Given the description of an element on the screen output the (x, y) to click on. 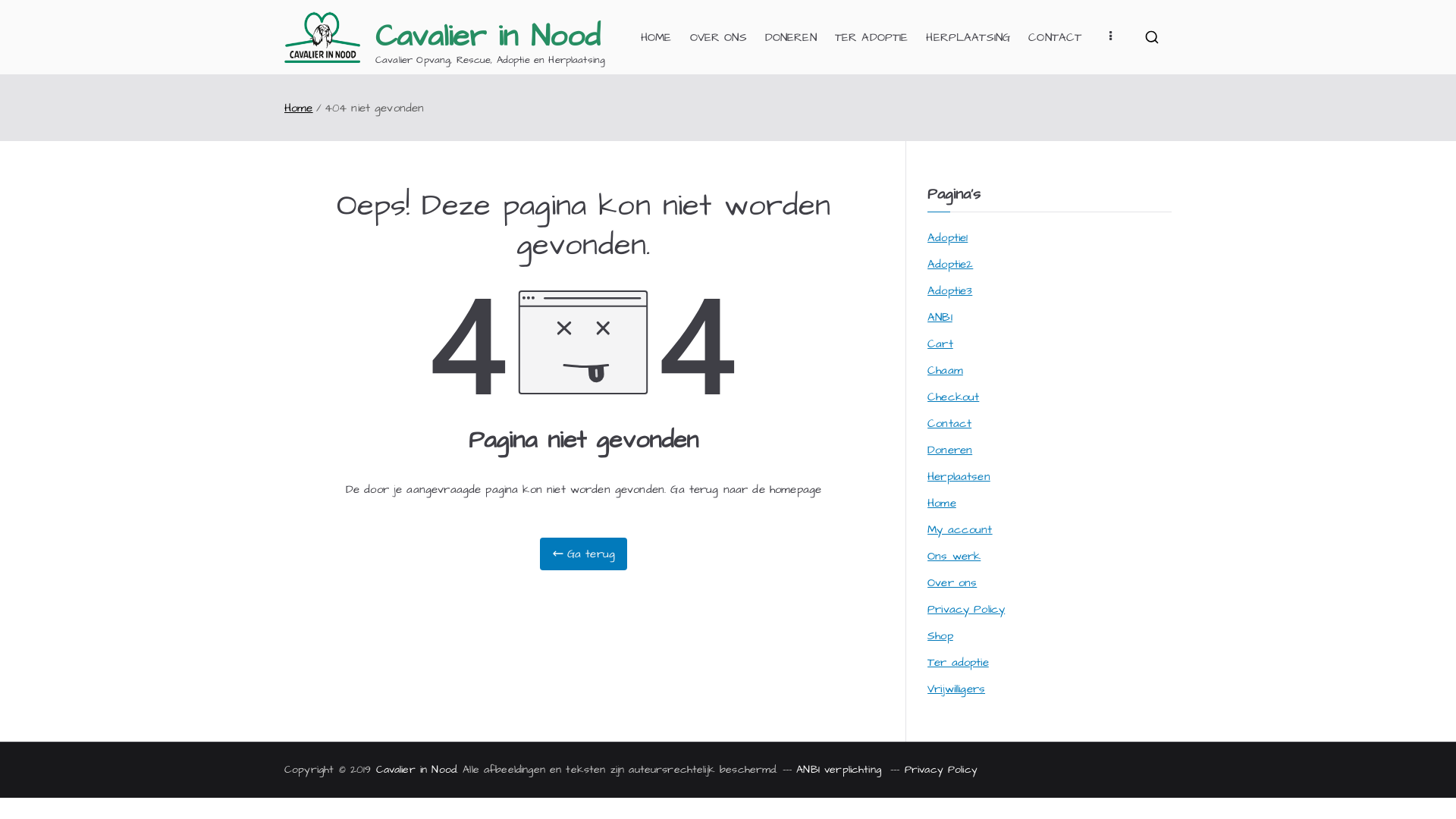
Contact Element type: text (949, 423)
Home Element type: text (941, 502)
Adoptie1 Element type: text (947, 237)
Shop Element type: text (940, 635)
TER ADOPTIE Element type: text (871, 37)
Ga terug Element type: text (583, 553)
Cart Element type: text (940, 343)
Chaam Element type: text (945, 370)
Cavalier in Nood Element type: text (416, 769)
HERPLAATSING Element type: text (967, 37)
DONEREN Element type: text (790, 37)
Cavalier in Nood Element type: text (487, 36)
Vrijwilligers Element type: text (956, 688)
Home Element type: text (298, 108)
ANBI Element type: text (939, 317)
Adoptie3 Element type: text (949, 290)
Doneren Element type: text (949, 449)
Zoeken Element type: text (27, 14)
Privacy Policy Element type: text (940, 769)
OVER ONS Element type: text (718, 37)
Over ons Element type: text (951, 582)
Ter adoptie Element type: text (957, 662)
Checkout Element type: text (953, 396)
CONTACT Element type: text (1054, 37)
Herplaatsen Element type: text (958, 476)
Privacy Policy Element type: text (965, 609)
Ons werk Element type: text (953, 556)
Adoptie2 Element type: text (949, 264)
My account Element type: text (959, 529)
HOME Element type: text (655, 37)
ANBI verplichting  Element type: text (840, 769)
